Given the description of an element on the screen output the (x, y) to click on. 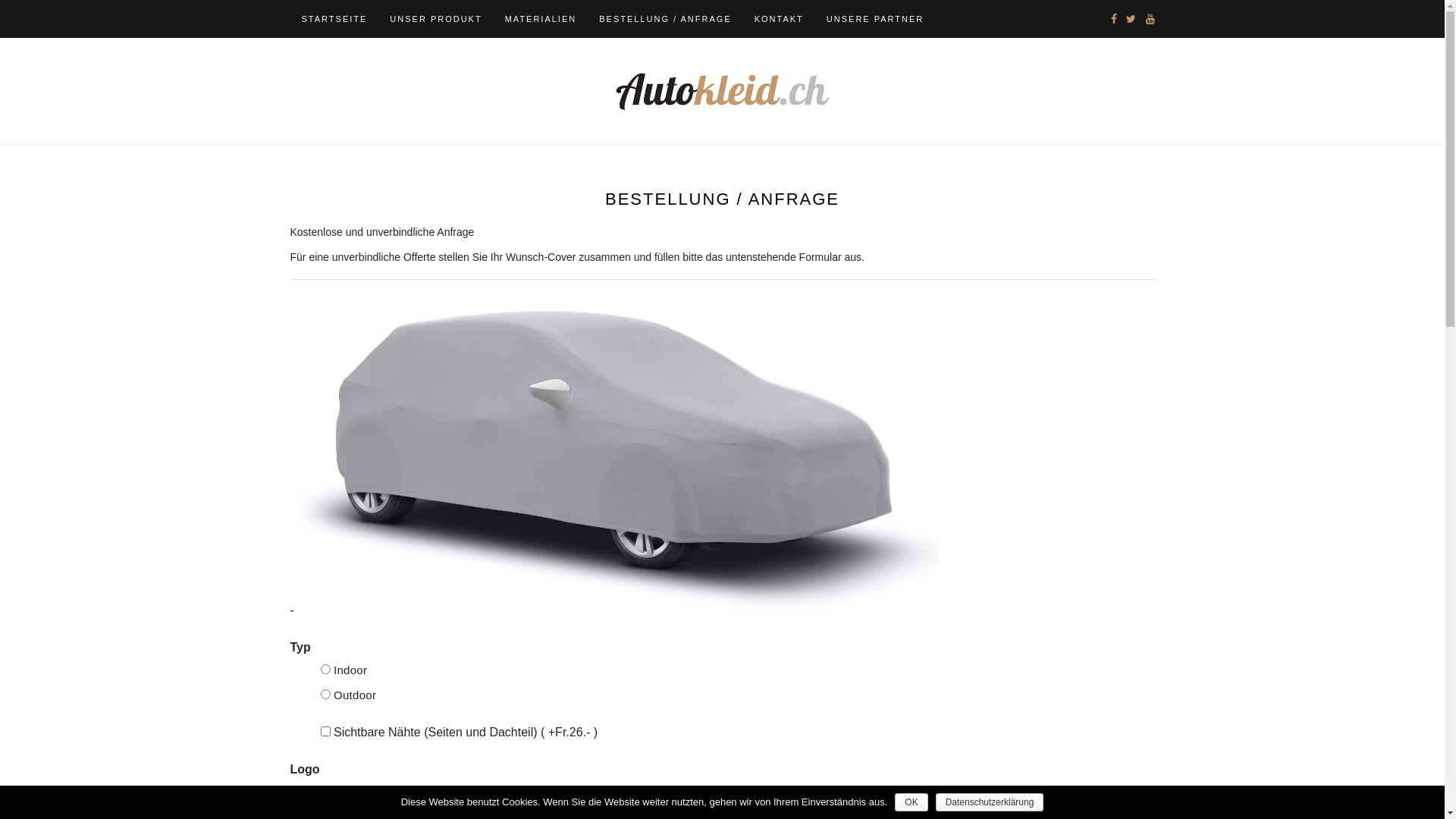
KONTAKT Element type: text (779, 18)
BESTELLUNG / ANFRAGE Element type: text (664, 18)
MATERIALIEN Element type: text (540, 18)
STARTSEITE Element type: text (333, 18)
UNSER PRODUKT Element type: text (435, 18)
UNSERE PARTNER Element type: text (875, 18)
OK Element type: text (910, 802)
